Given the description of an element on the screen output the (x, y) to click on. 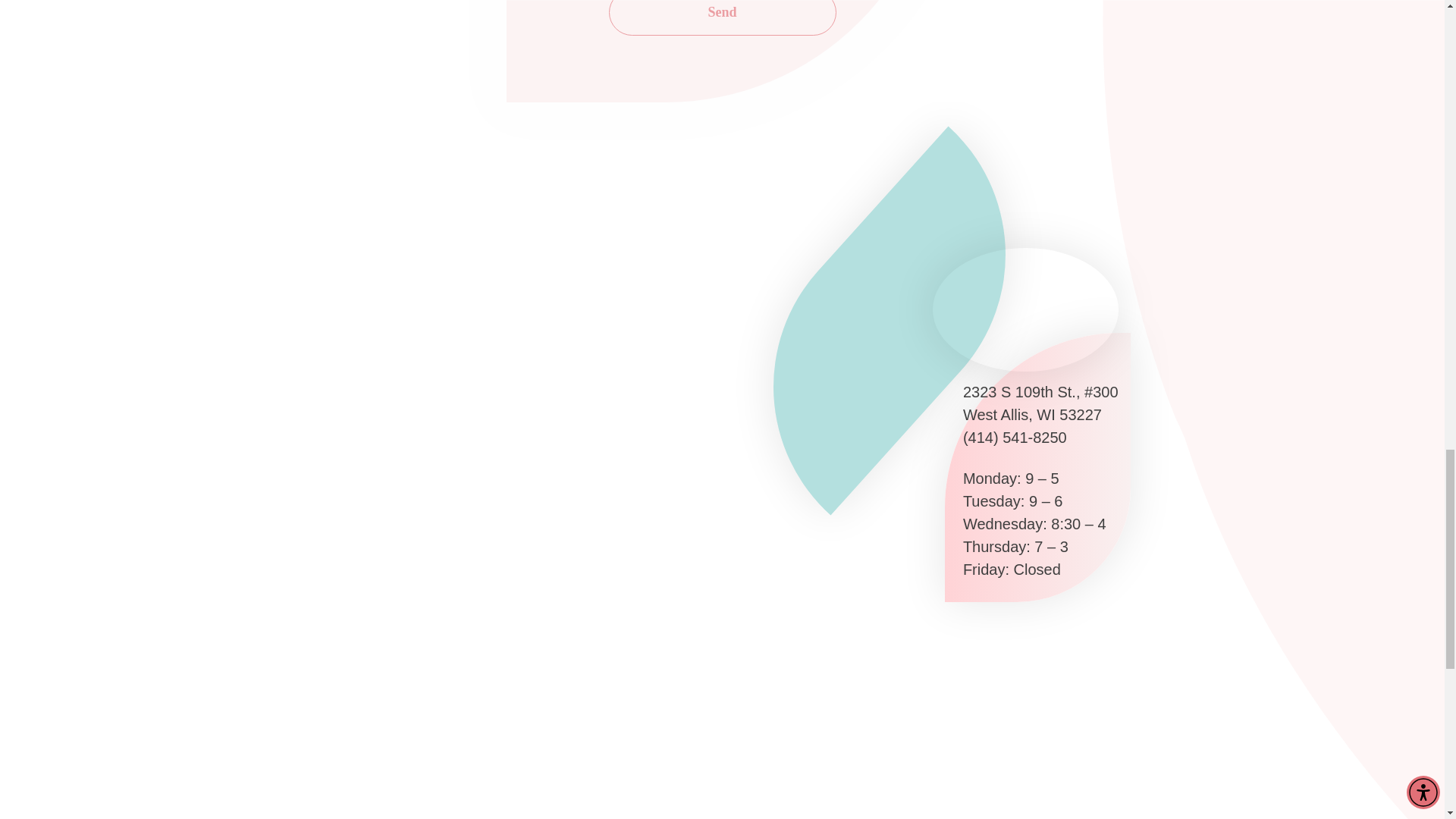
Send (721, 18)
